Given the description of an element on the screen output the (x, y) to click on. 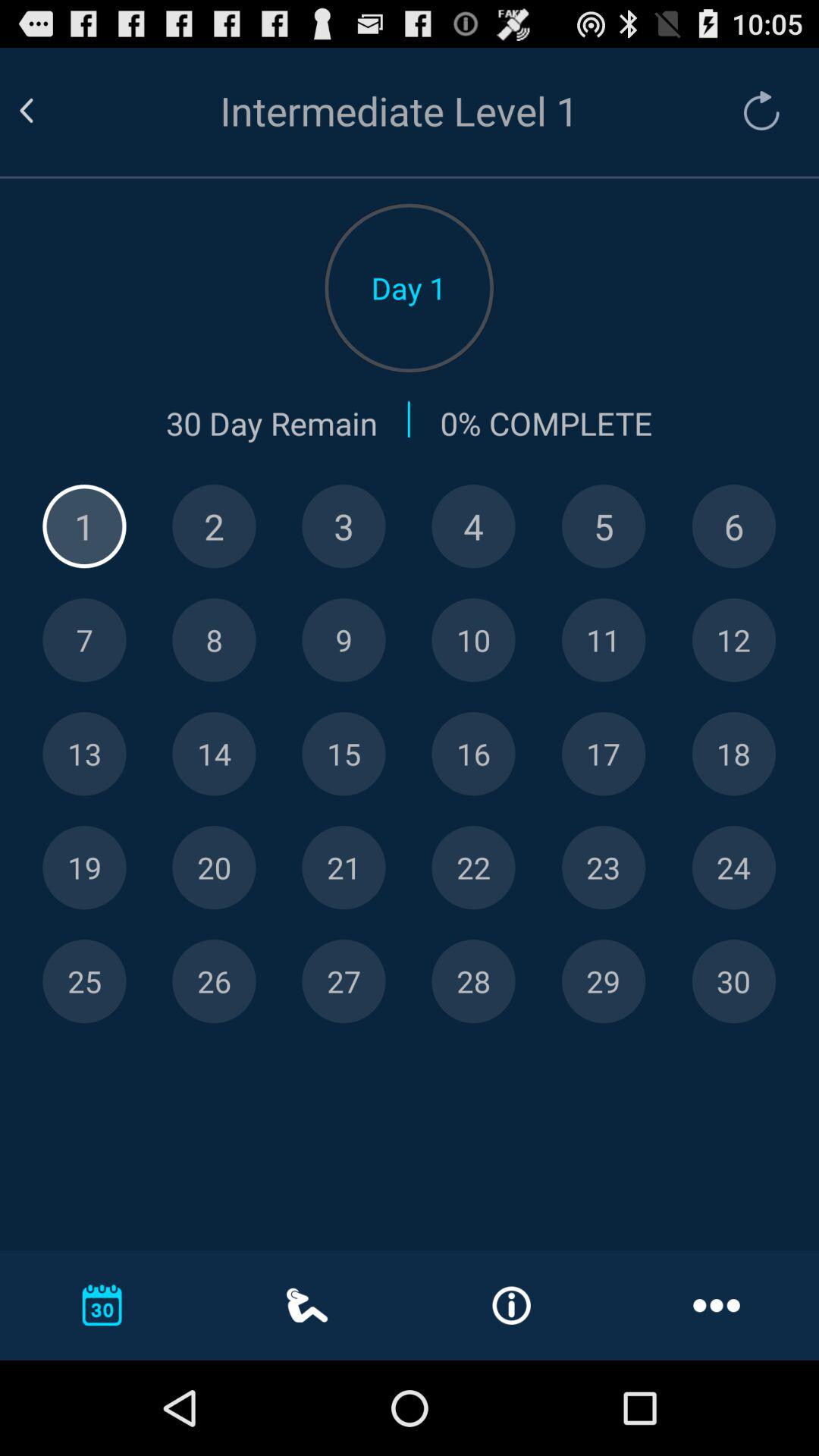
select date (733, 867)
